Given the description of an element on the screen output the (x, y) to click on. 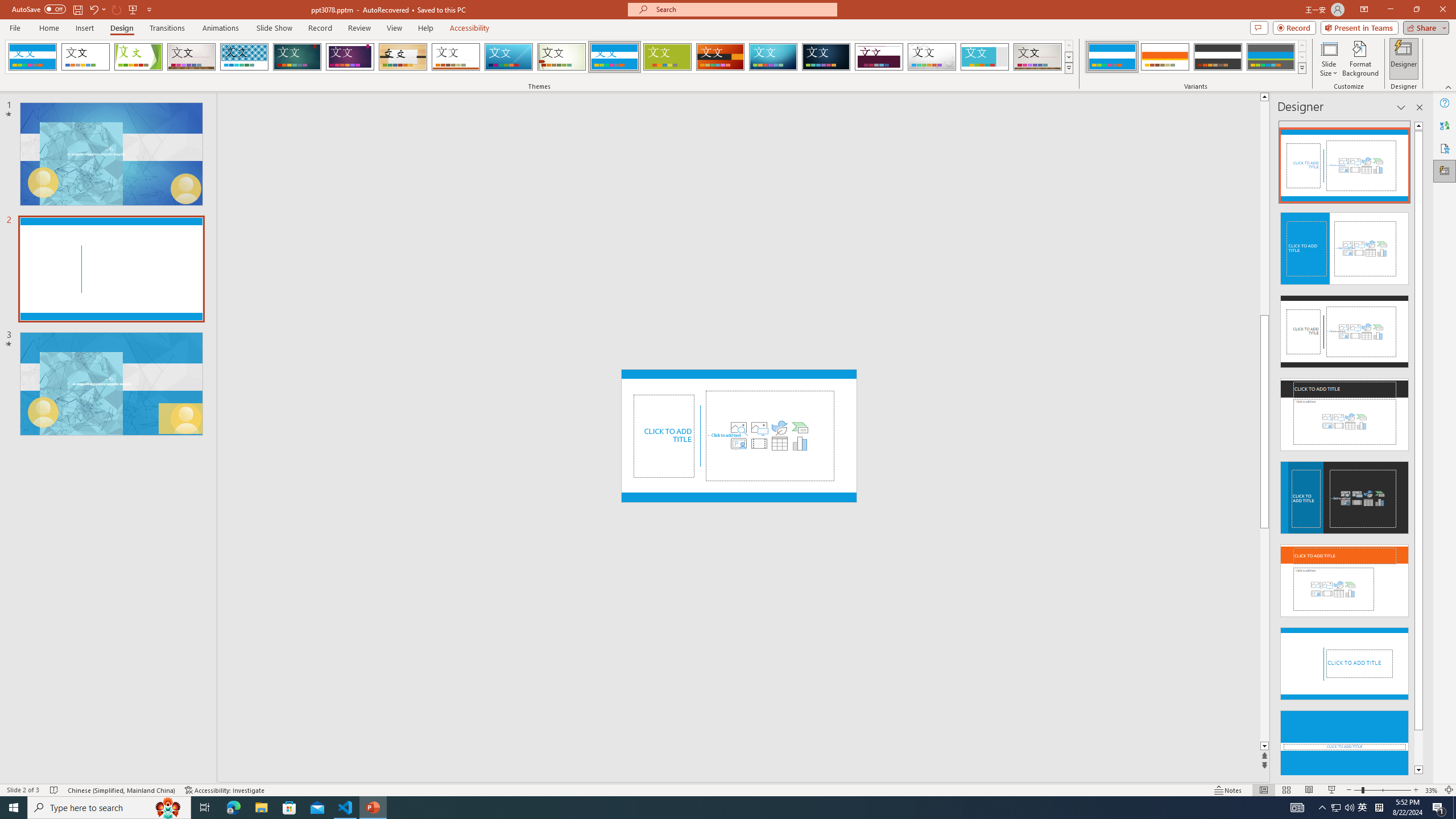
Class: NetUIScrollBar (1418, 447)
Facet (138, 56)
Integral (244, 56)
Office Theme (85, 56)
Frame (984, 56)
Variants (1301, 67)
Banded Variant 4 (1270, 56)
Stock Images (738, 427)
Content Placeholder (770, 435)
